Given the description of an element on the screen output the (x, y) to click on. 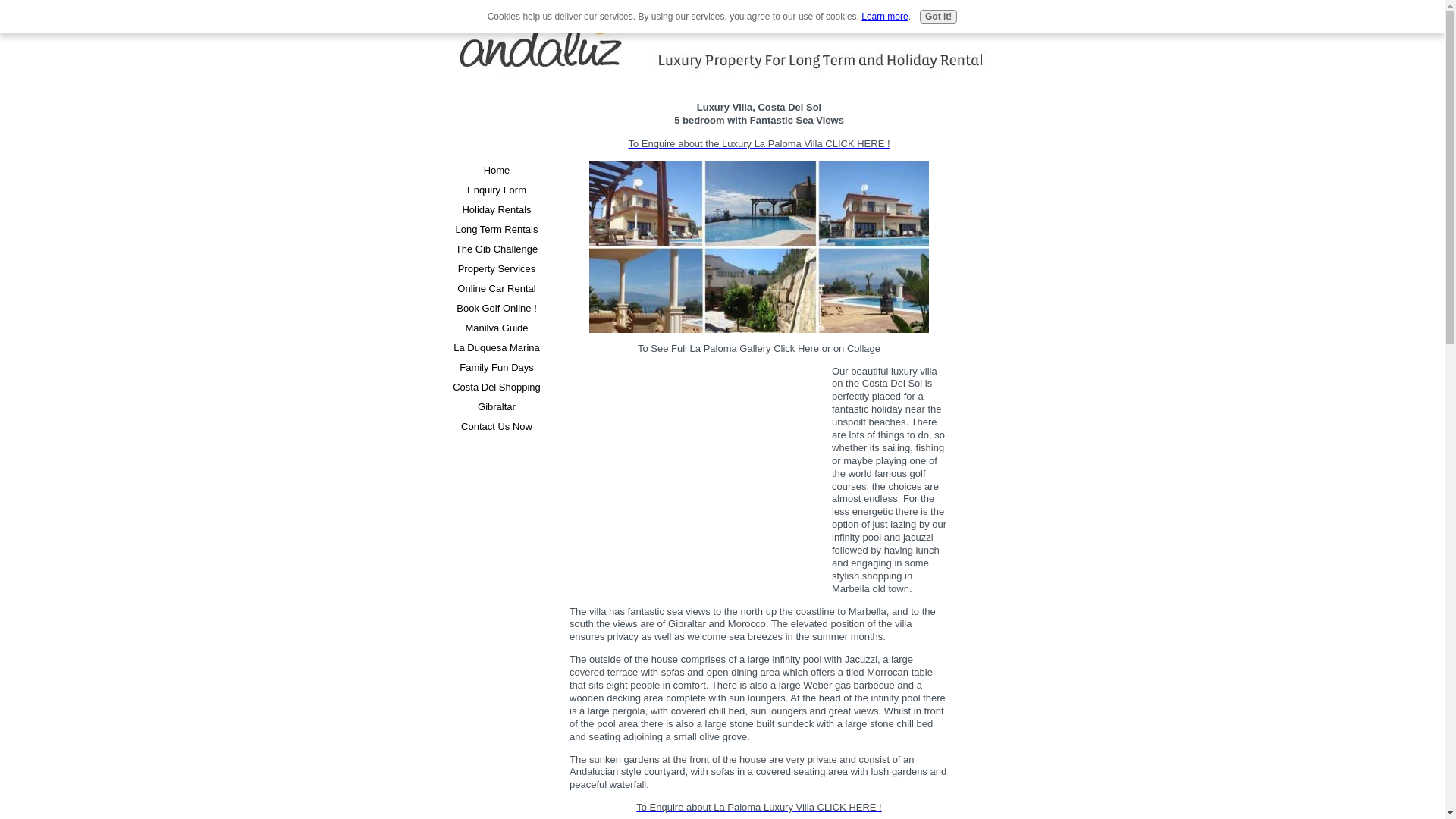
Enquiry Form (496, 189)
Online Car Rental (496, 288)
Contact Us Now (496, 426)
Got it! (938, 16)
Home (496, 170)
The Gib Challenge (496, 249)
Property Services (496, 269)
Advertisement (495, 114)
Manilva Guide (496, 328)
To Enquire about the Luxury La Paloma Villa CLICK HERE ! (758, 143)
Holiday Rentals (496, 209)
Long Term Rentals (496, 229)
Costa Del Shopping (496, 387)
To Enquire about La Paloma Luxury Villa CLICK HERE ! (758, 807)
To See Full La Paloma Gallery Click Here or on Collage (758, 348)
